Given the description of an element on the screen output the (x, y) to click on. 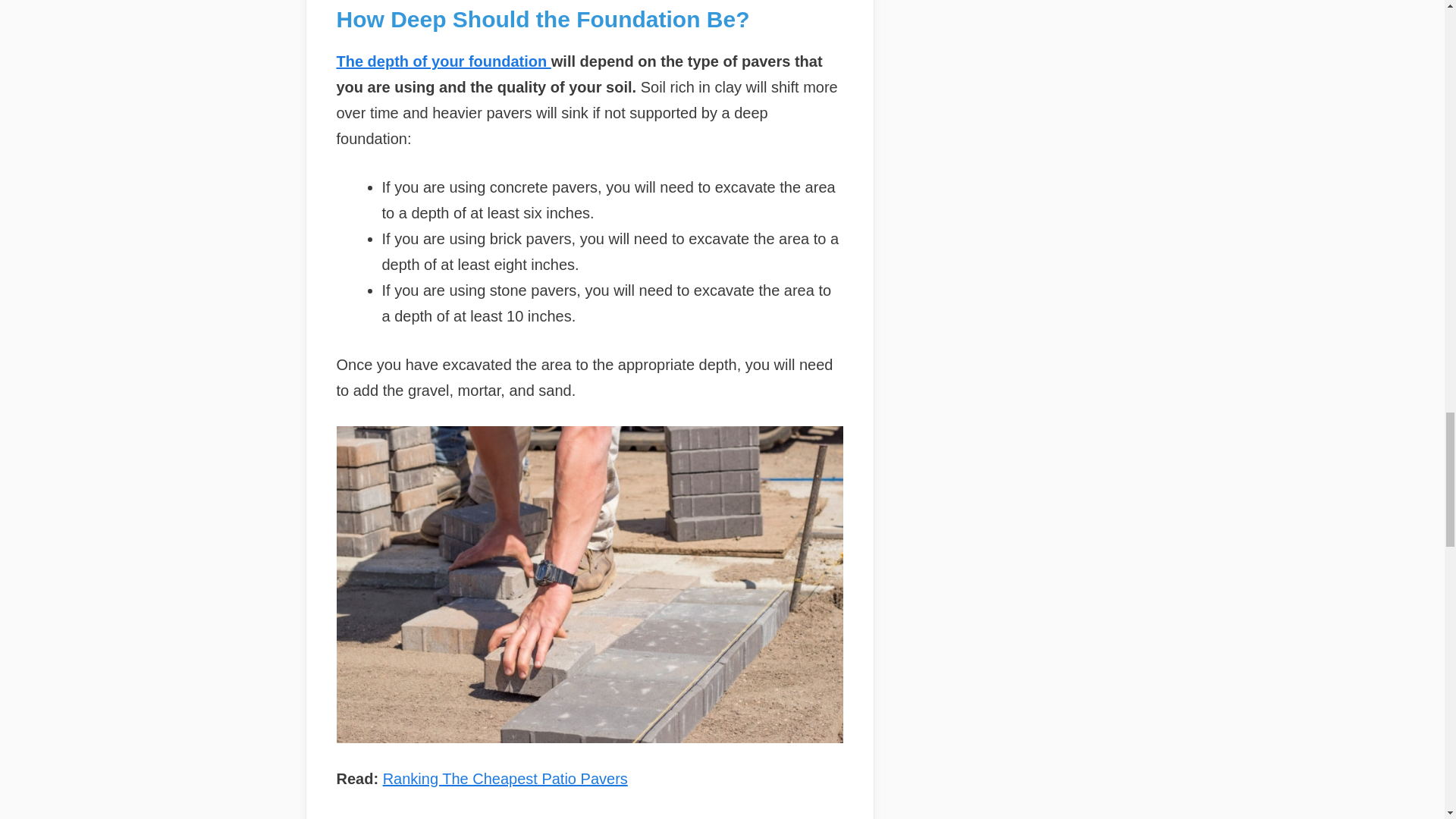
The depth of your foundation (443, 61)
Ranking The Cheapest Patio Pavers (504, 778)
